Given the description of an element on the screen output the (x, y) to click on. 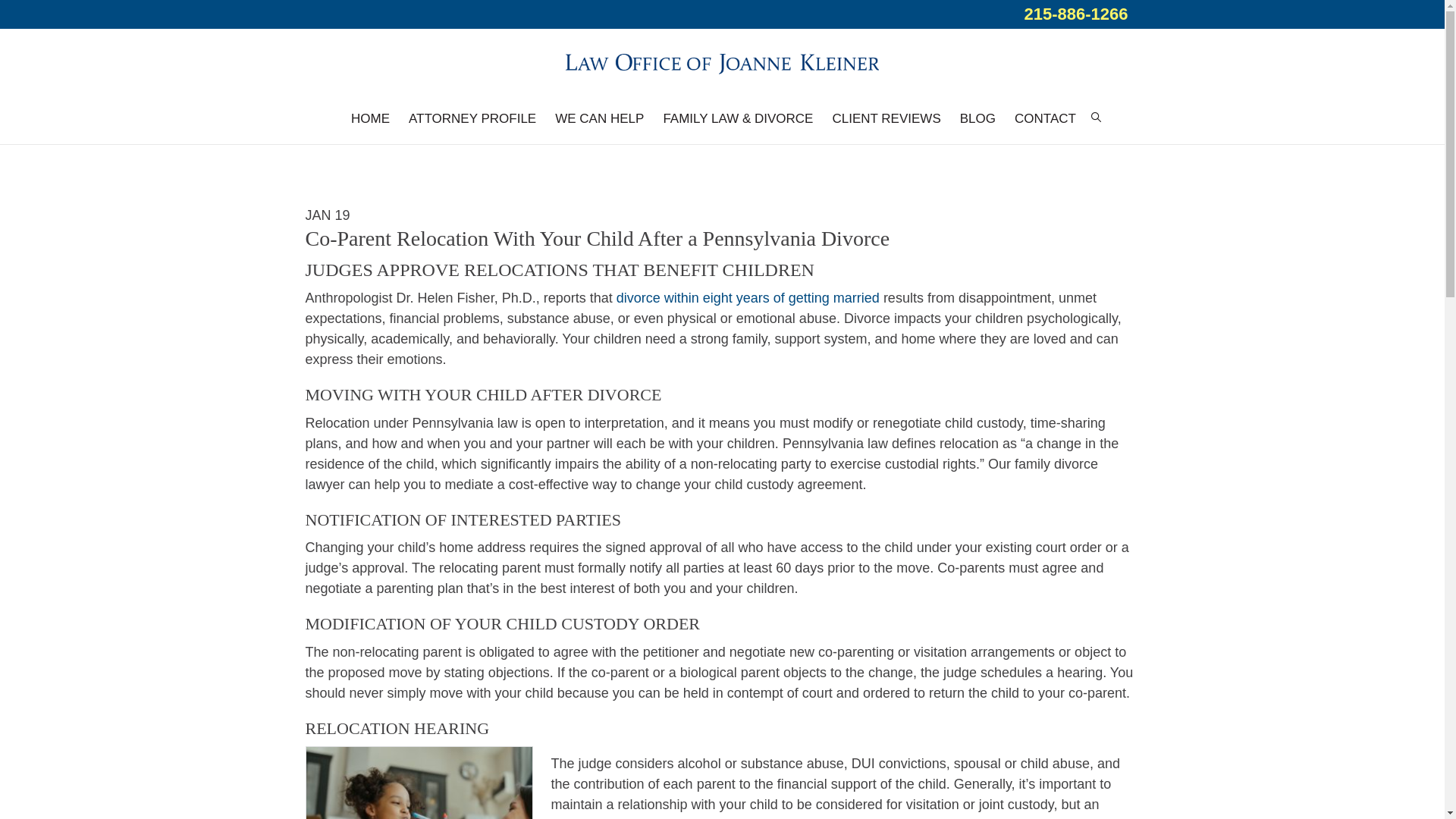
WE CAN HELP (598, 118)
ATTORNEY PROFILE (472, 118)
divorce within eight years of getting married (747, 297)
CLIENT REVIEWS (885, 118)
HOME (370, 118)
LAW OFFICE OF JOANNE KLEINER (722, 60)
BLOG (977, 118)
215-886-1266 (1074, 14)
